Given the description of an element on the screen output the (x, y) to click on. 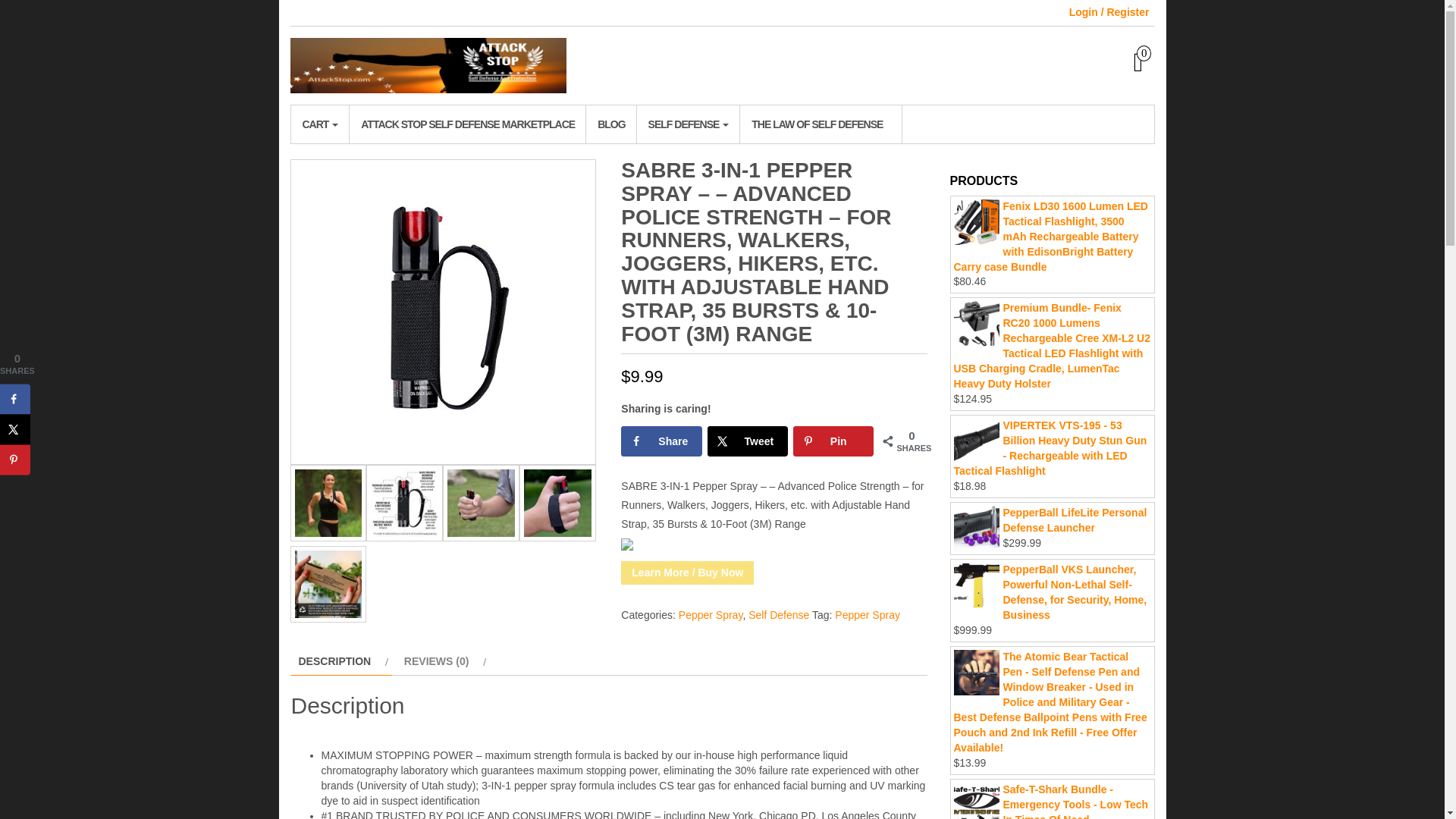
DESCRIPTION (334, 661)
ATTACK STOP SELF DEFENSE MARKETPLACE (467, 124)
c51jg2lSFTyL (404, 503)
Tweet (748, 440)
BLOG (610, 124)
Pepper Spray (866, 614)
Pin (834, 440)
Self Defense (778, 614)
THE LAW OF SELF DEFENSE (820, 124)
c51jNPOGu6nL (480, 503)
SELF DEFENSE (688, 124)
Cart (319, 124)
c51r1lTxL-cL (557, 503)
The Law of Self Defense (820, 124)
Blog (610, 124)
